Given the description of an element on the screen output the (x, y) to click on. 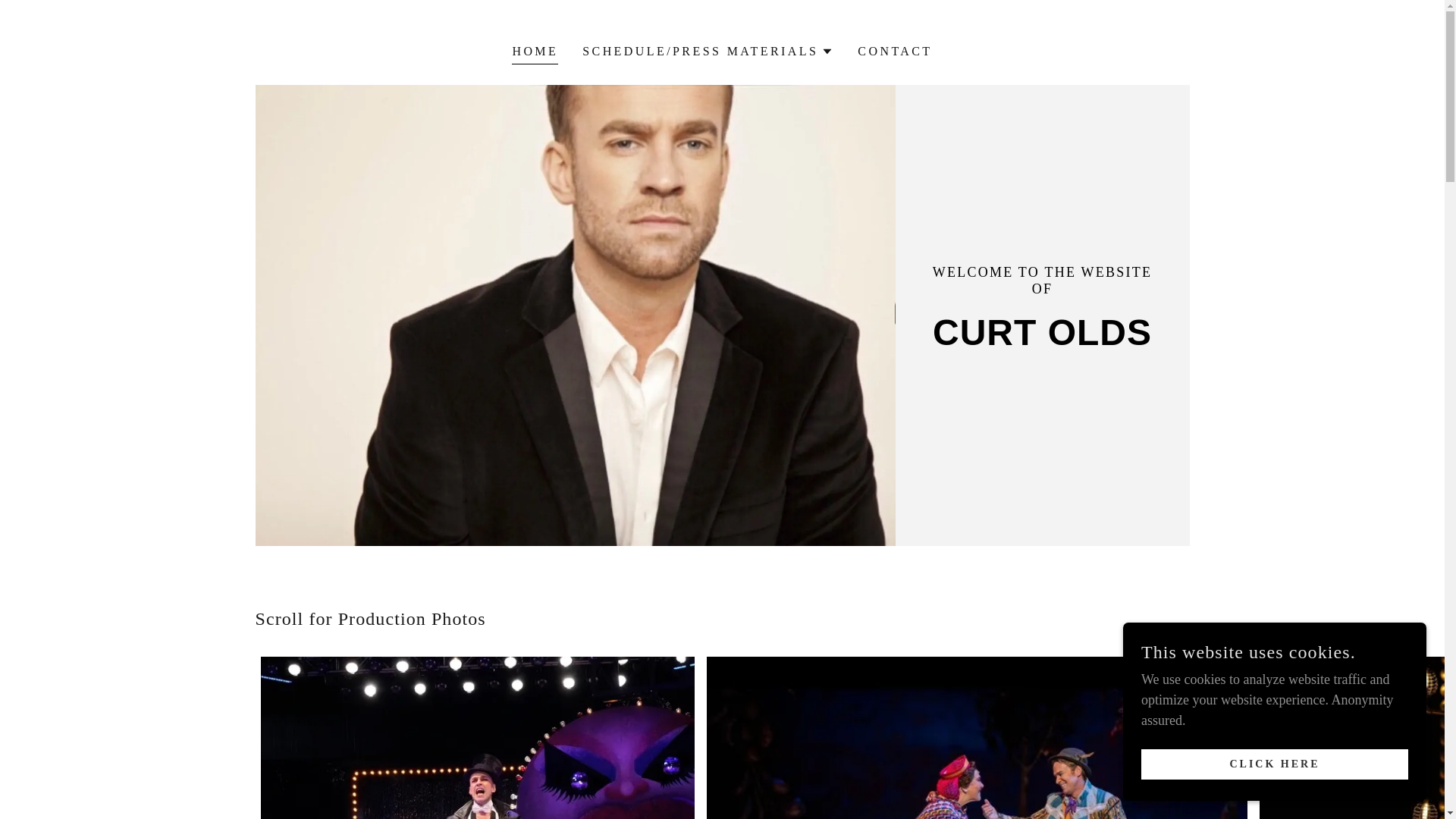
HOME (534, 53)
CLICK HERE (1274, 764)
CONTACT (894, 51)
